Given the description of an element on the screen output the (x, y) to click on. 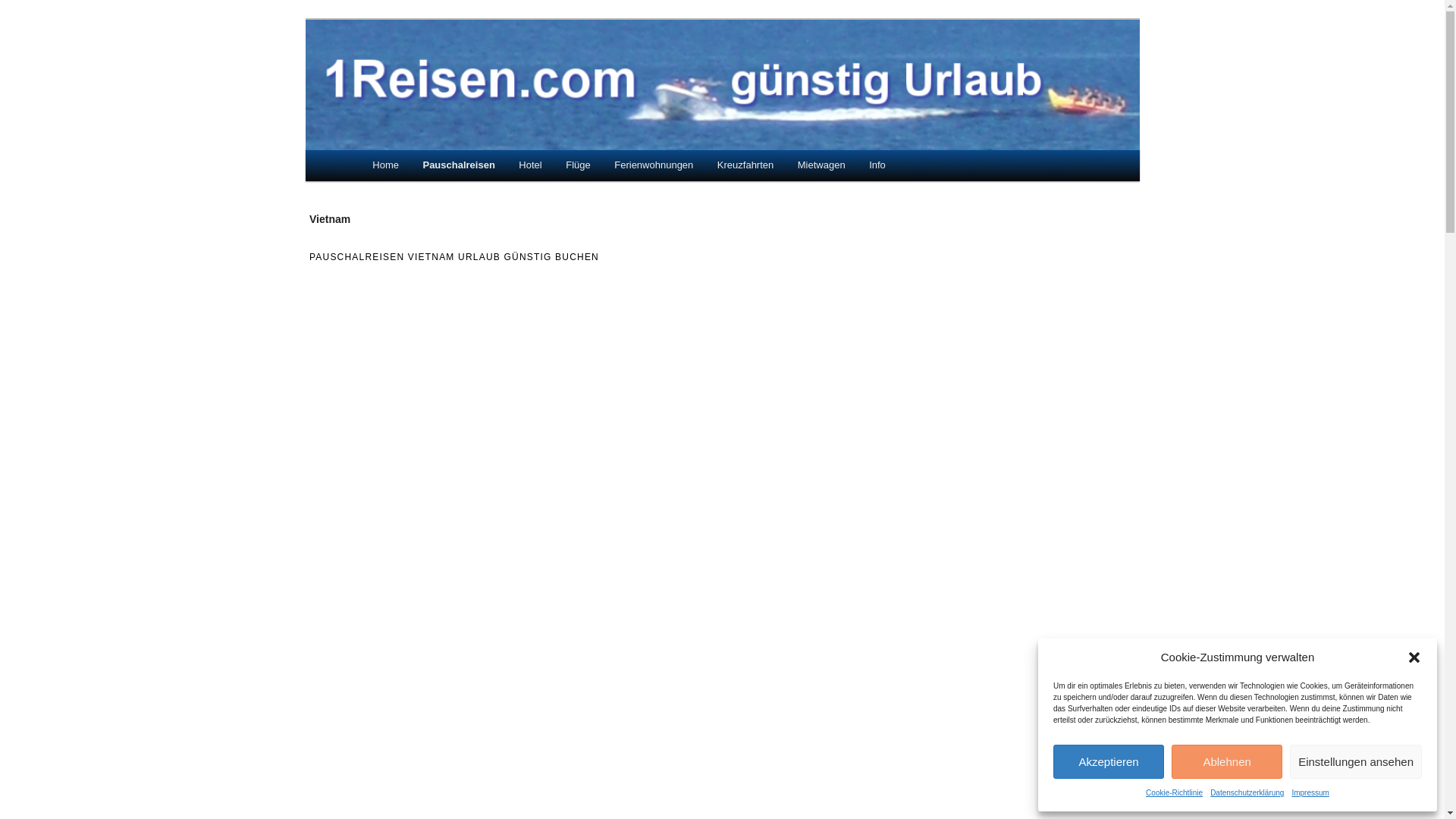
Reisen Hotel Flug Element type: text (432, 62)
Ferienwohnungen Element type: text (653, 164)
Impressum Element type: text (1309, 793)
Zum Inhalt wechseln Element type: text (420, 163)
Cookie-Richtlinie Element type: text (1173, 793)
Home Element type: text (385, 164)
Info Element type: text (876, 164)
Suchen Element type: text (21, 10)
Akzeptieren Element type: text (1108, 761)
Einstellungen ansehen Element type: text (1355, 761)
Kreuzfahrten Element type: text (745, 164)
Ablehnen Element type: text (1226, 761)
Pauschalreisen Element type: text (459, 164)
Hotel Element type: text (530, 164)
Mietwagen Element type: text (820, 164)
